Given the description of an element on the screen output the (x, y) to click on. 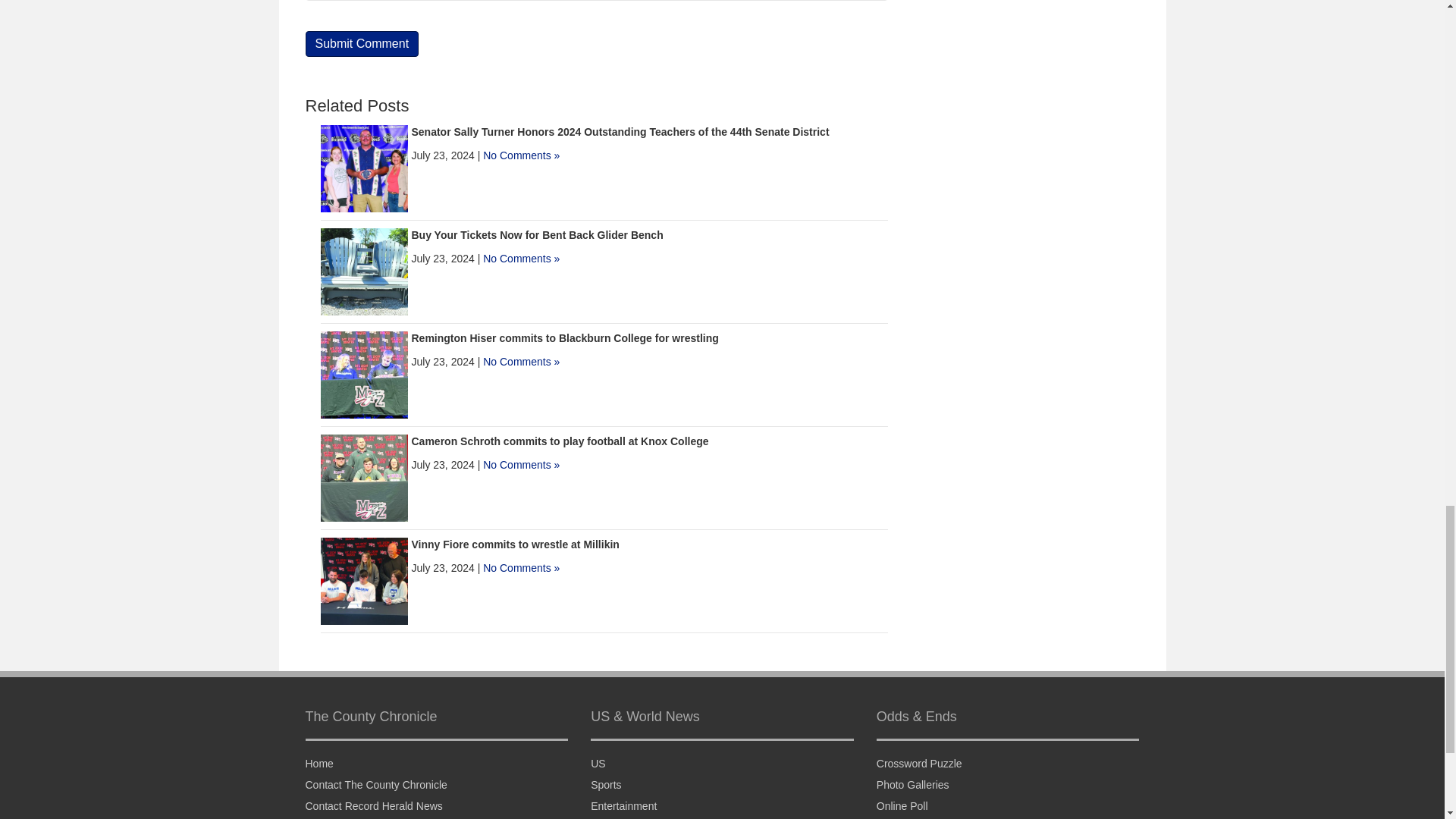
Cameron Schroth commits to play football at Knox College (558, 440)
Submit Comment (361, 43)
Vinny Fiore commits to wrestle at Millikin (514, 544)
Buy Your Tickets Now for Bent Back Glider Bench (363, 271)
Remington Hiser commits to Blackburn College for wrestling (563, 337)
Buy Your Tickets Now for Bent Back Glider Bench (536, 234)
Cameron Schroth commits to play football at Knox College (363, 477)
Remington Hiser commits to Blackburn College for wrestling (363, 374)
